Given the description of an element on the screen output the (x, y) to click on. 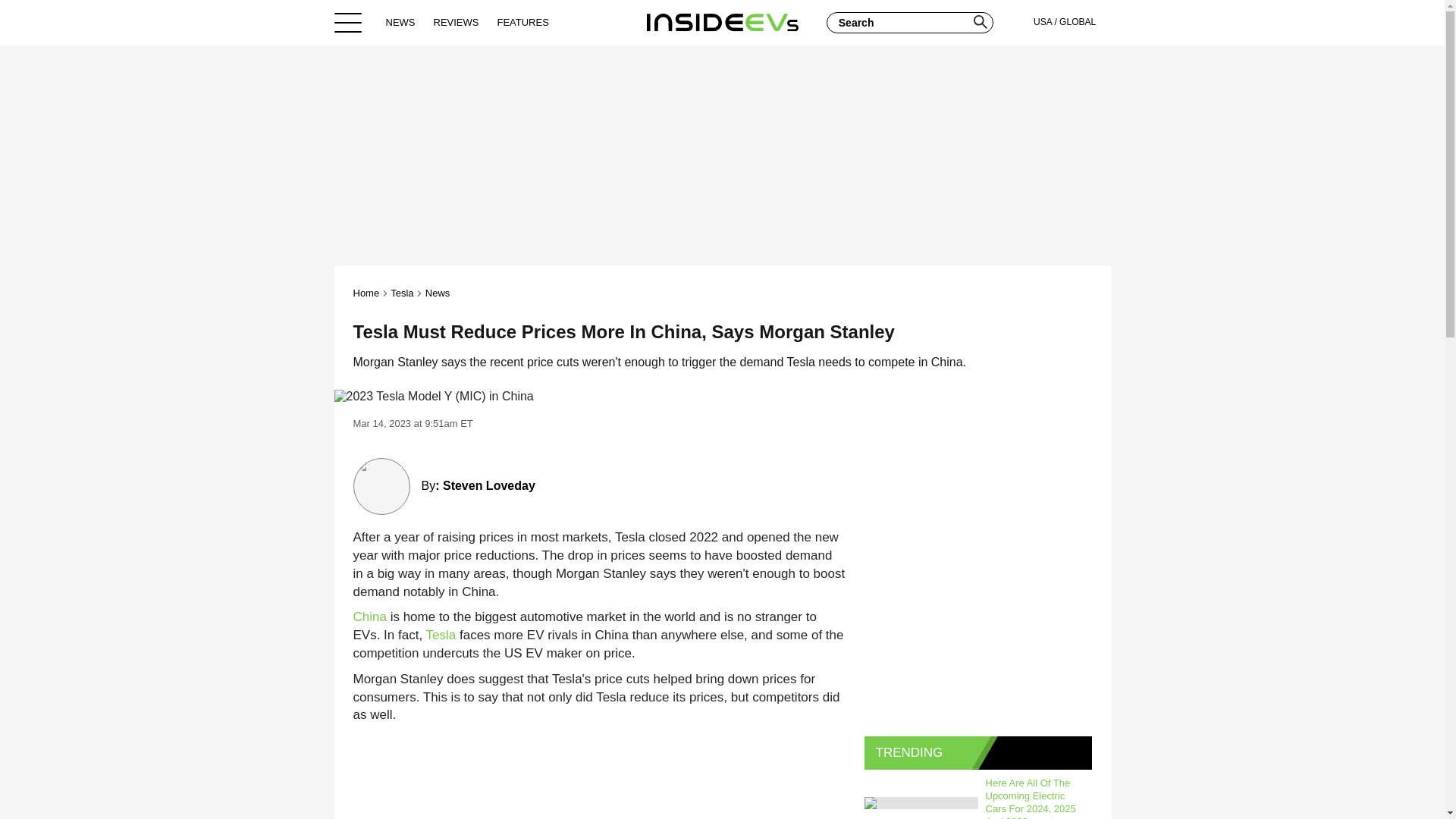
Home (721, 22)
China (370, 616)
Tesla (401, 292)
NEWS (399, 22)
FEATURES (522, 22)
News (437, 292)
REVIEWS (456, 22)
Steven Loveday (488, 485)
Tesla (441, 635)
